Given the description of an element on the screen output the (x, y) to click on. 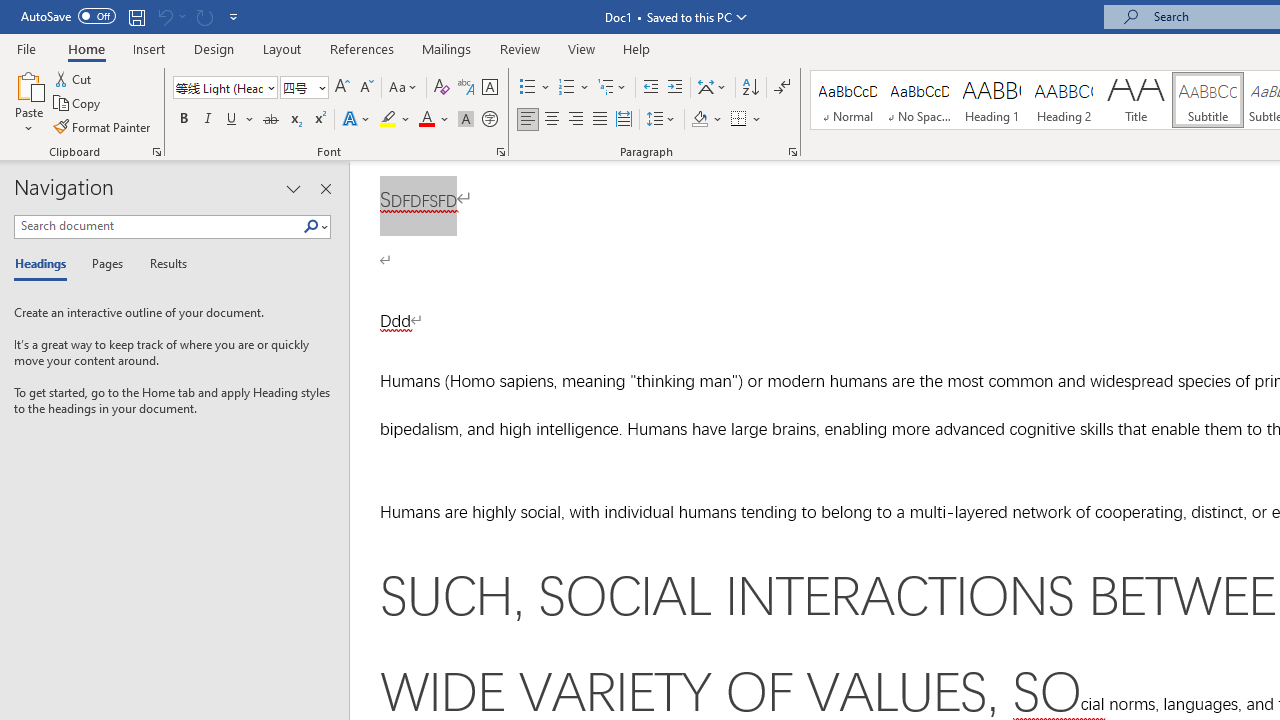
Font (224, 87)
Align Left (527, 119)
Pages (105, 264)
Show/Hide Editing Marks (781, 87)
Open (320, 87)
Paragraph... (792, 151)
Office Clipboard... (156, 151)
Align Right (575, 119)
Heading 2 (1063, 100)
Paste (28, 102)
Font Color (434, 119)
Review (520, 48)
Class: NetUIImage (311, 226)
